Given the description of an element on the screen output the (x, y) to click on. 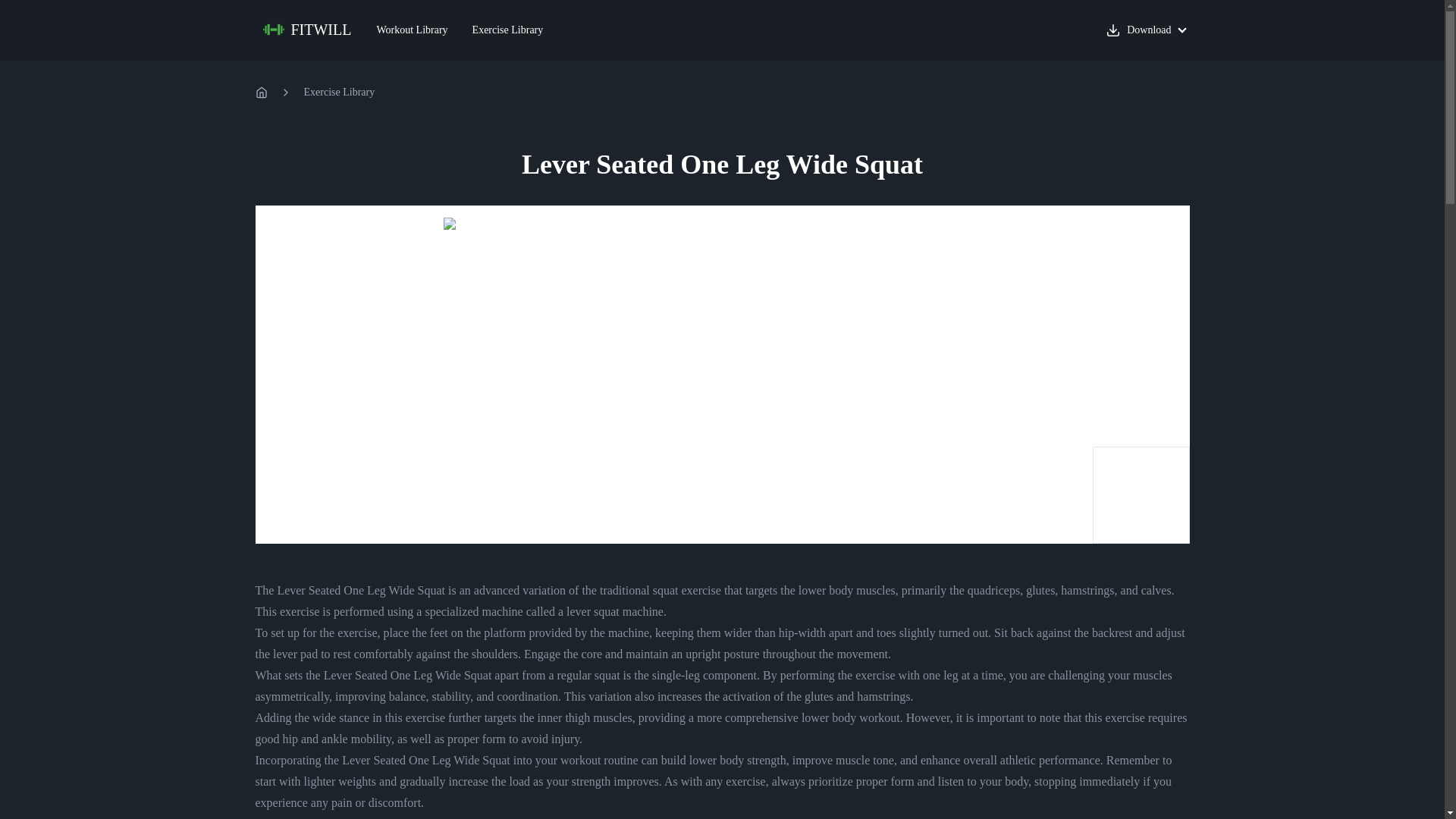
QR Code: View in the Fitwill app (1140, 494)
Home (260, 92)
FITWILL (307, 30)
Workout Library (412, 30)
Exercise Library (338, 92)
Exercise Library (508, 30)
